Given the description of an element on the screen output the (x, y) to click on. 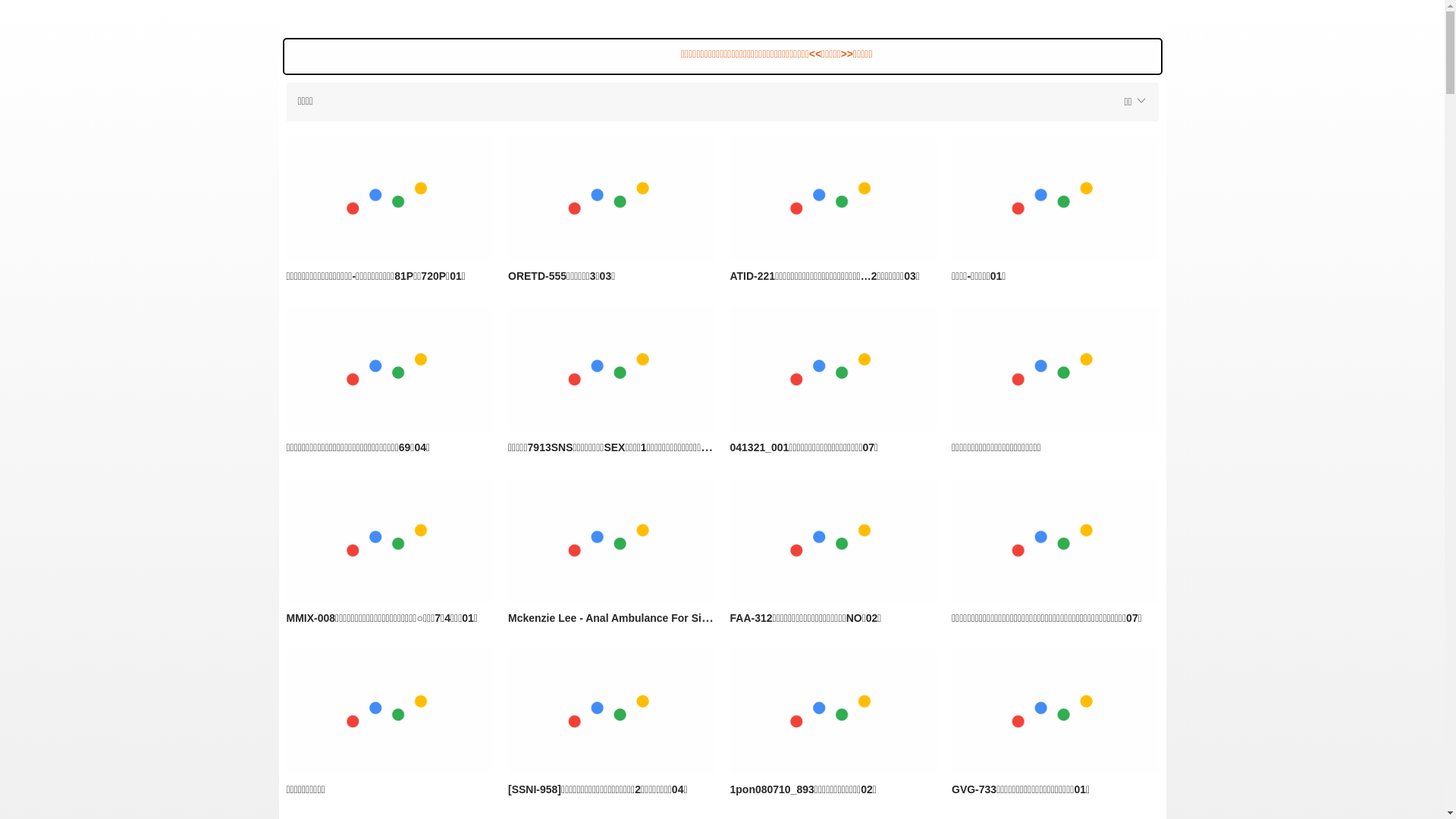
Mckenzie Lee - Anal Ambulance For Single Men On Quarantine Element type: hover (611, 540)
Mckenzie Lee - Anal Ambulance For Single Men On Quarantine Element type: text (666, 617)
